Given the description of an element on the screen output the (x, y) to click on. 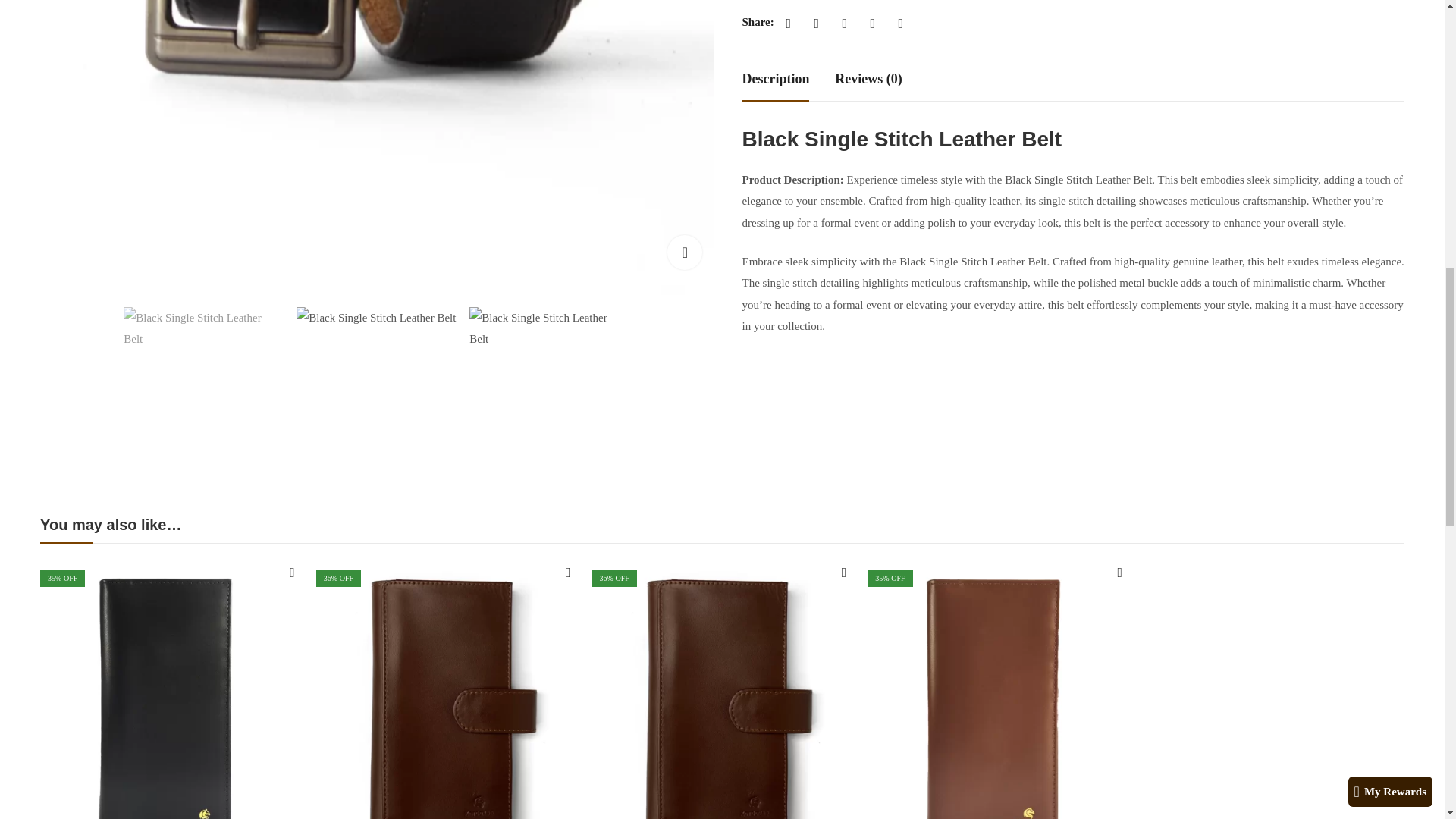
WLG-230056 (550, 386)
Fashion (850, 2)
Wallet (961, 2)
Ladies Clutch (908, 2)
Accessories (799, 2)
WLG-230056 (204, 386)
WLG-230056 (377, 386)
weleathergoods (1019, 2)
Lightbox (683, 252)
